Given the description of an element on the screen output the (x, y) to click on. 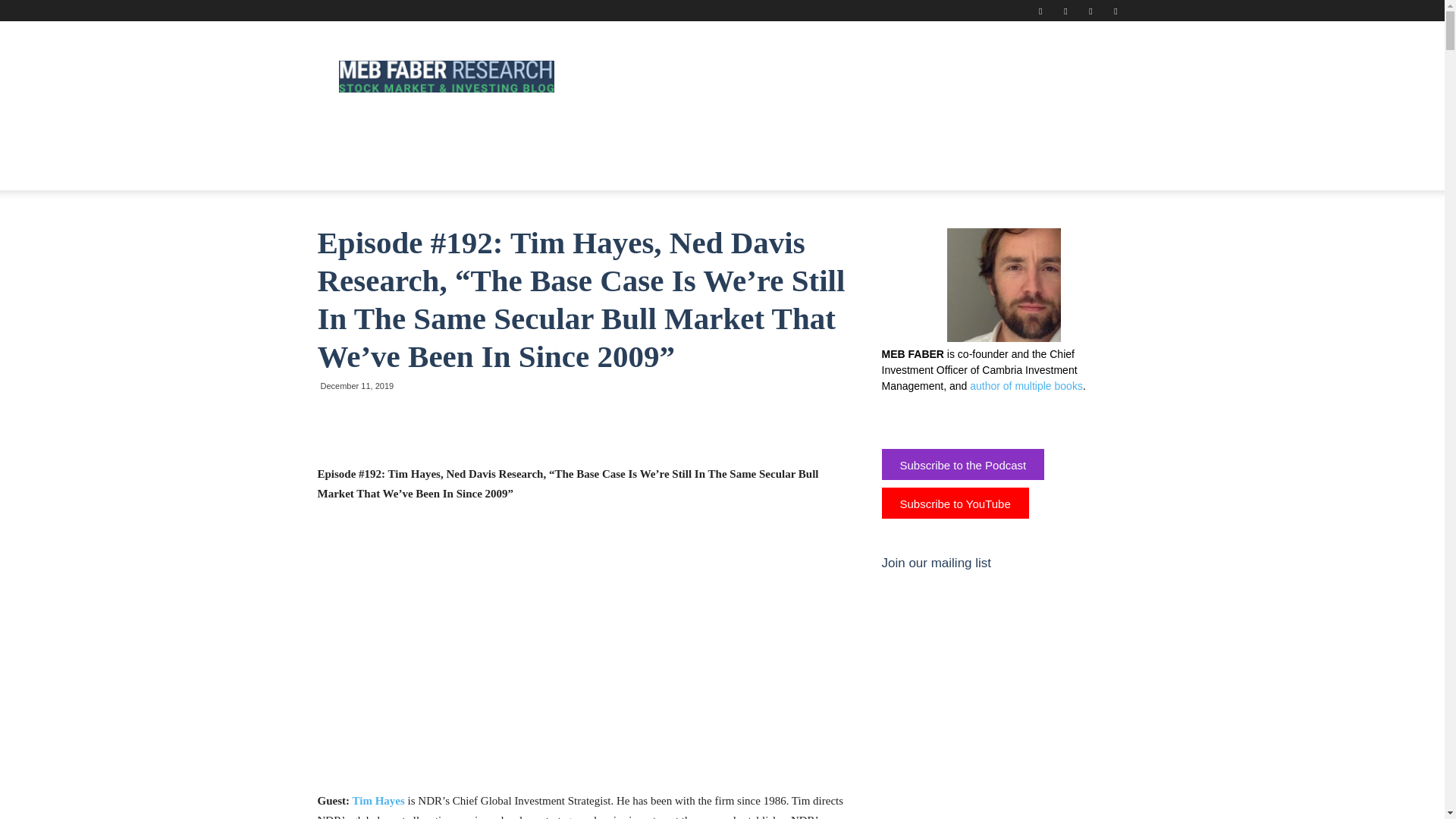
Twitter Follow Button (994, 417)
MANAGED ASSETS (672, 135)
WHITE PAPERS (783, 135)
HOME (344, 135)
DATA RESOURCES (551, 135)
CONTACT (354, 171)
BOOKS (462, 135)
ABOUT (402, 135)
PODCAST (948, 135)
Twitter (1090, 10)
SPEAKING (873, 135)
Youtube (1114, 10)
Linkedin (1040, 10)
RSS (1065, 10)
